Given the description of an element on the screen output the (x, y) to click on. 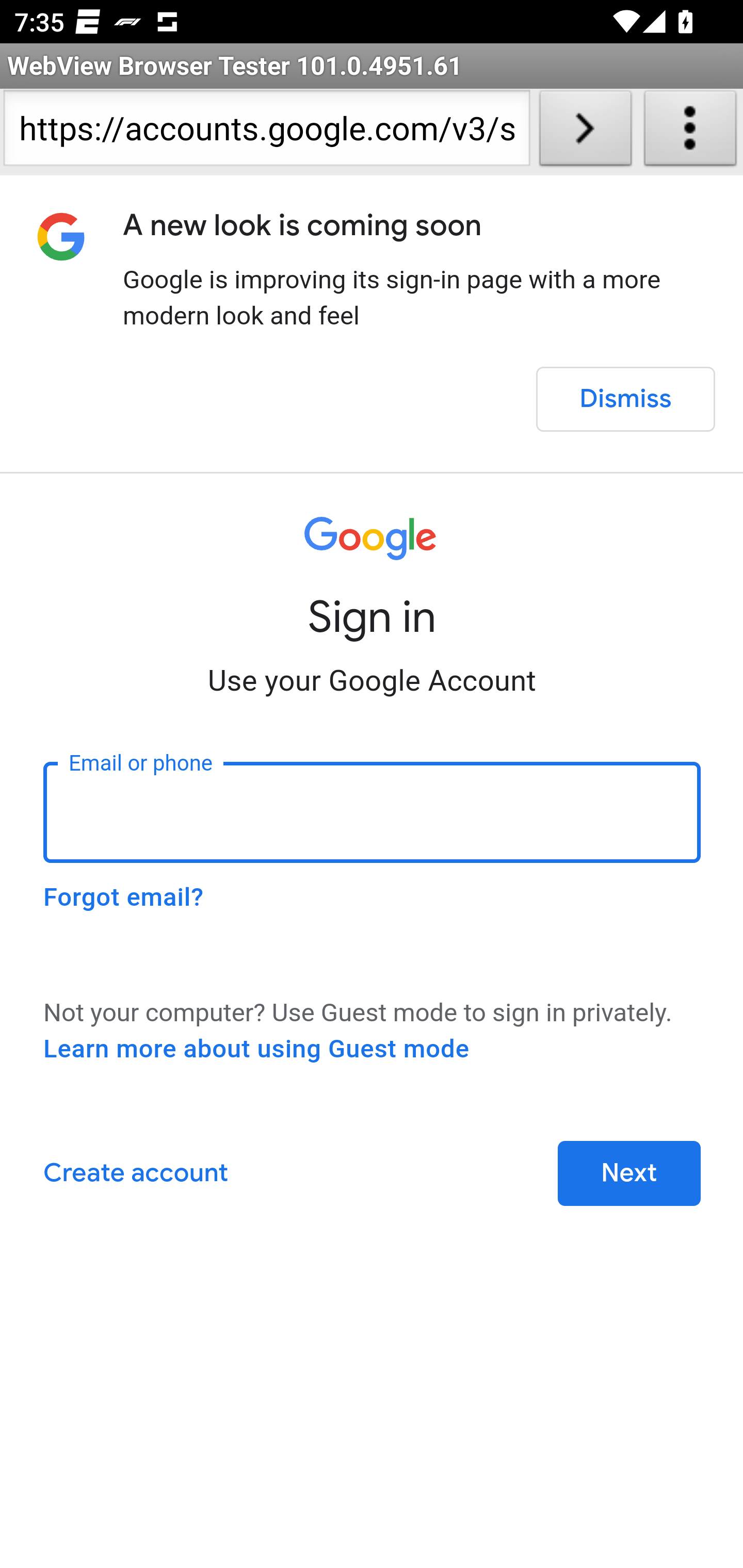
Load URL (585, 132)
About WebView (690, 132)
Dismiss (625, 398)
Forgot email? (123, 897)
Learn more about using Guest mode (256, 1048)
Create account (134, 1173)
Next (629, 1173)
